Given the description of an element on the screen output the (x, y) to click on. 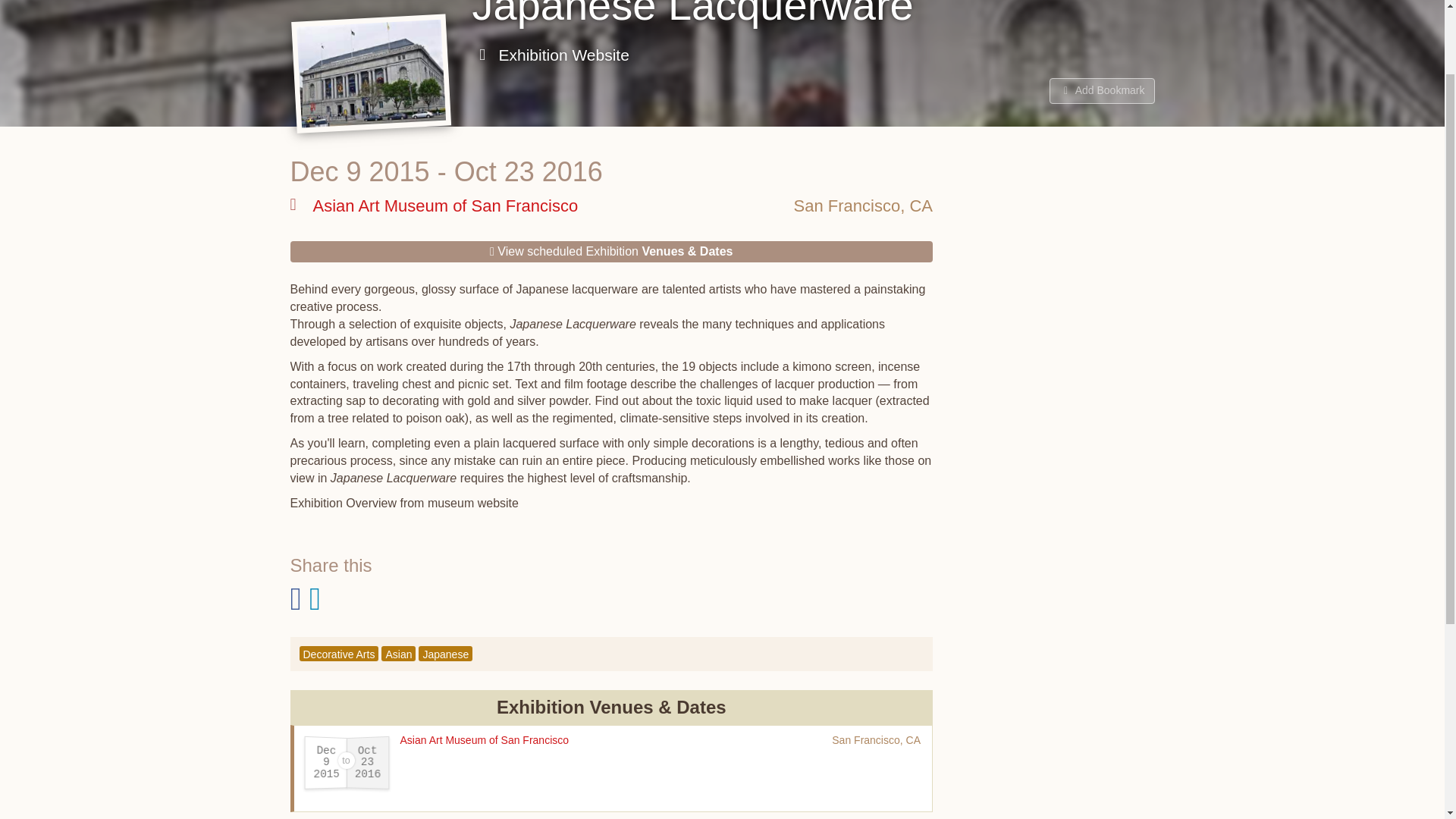
Exhibition Website (549, 55)
Asian Art Museum of San Francisco (484, 739)
Asian Art Museum of San Francisco (433, 205)
Add Bookmark (1101, 90)
